Given the description of an element on the screen output the (x, y) to click on. 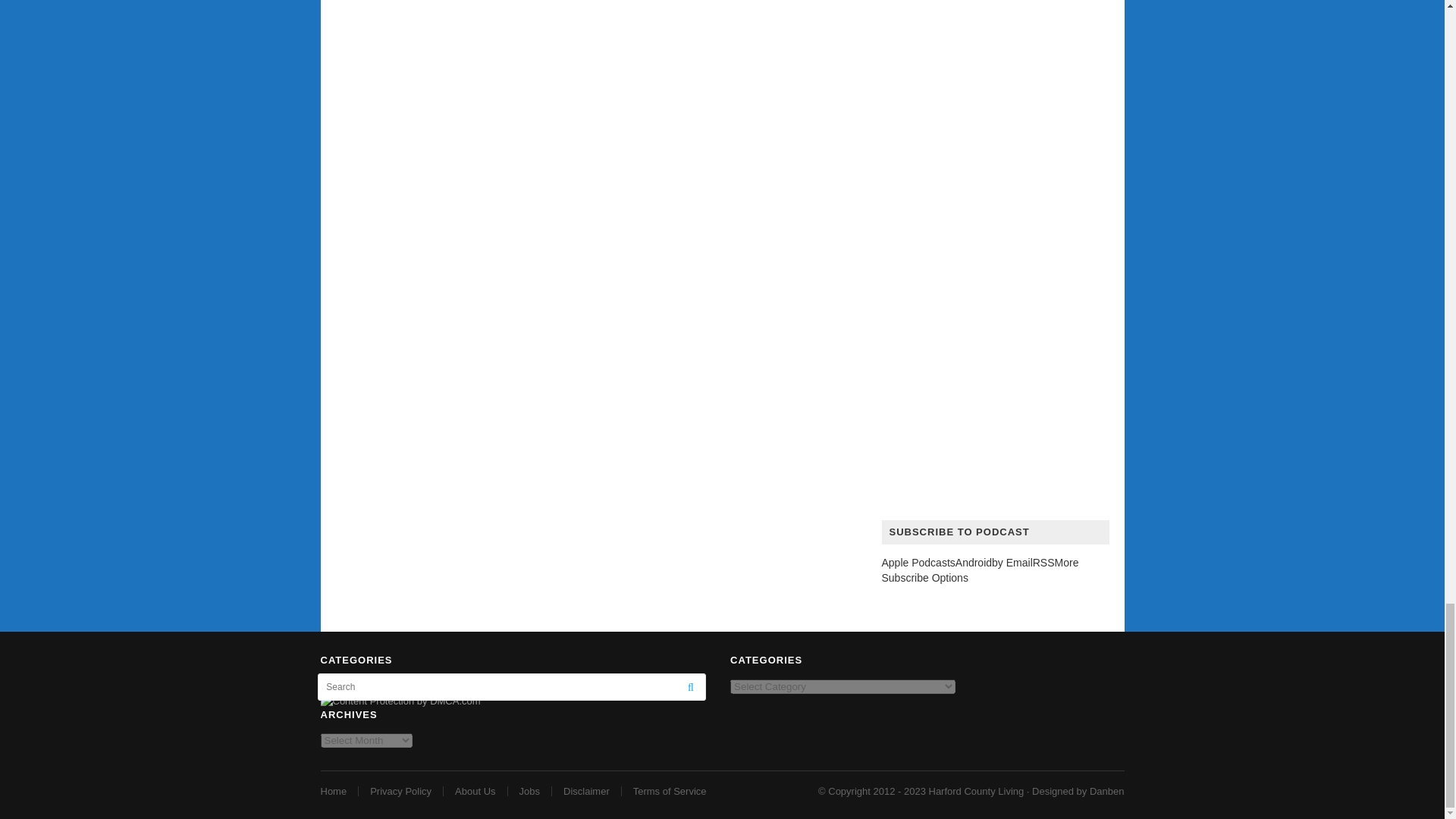
Content Protection by DMCA.com (400, 700)
Subscribe on Apple Podcasts (917, 562)
Subscribe via RSS (1043, 562)
Subscribe by Email (1011, 562)
Subscribe on Android (973, 562)
More Subscribe Options (979, 569)
